Given the description of an element on the screen output the (x, y) to click on. 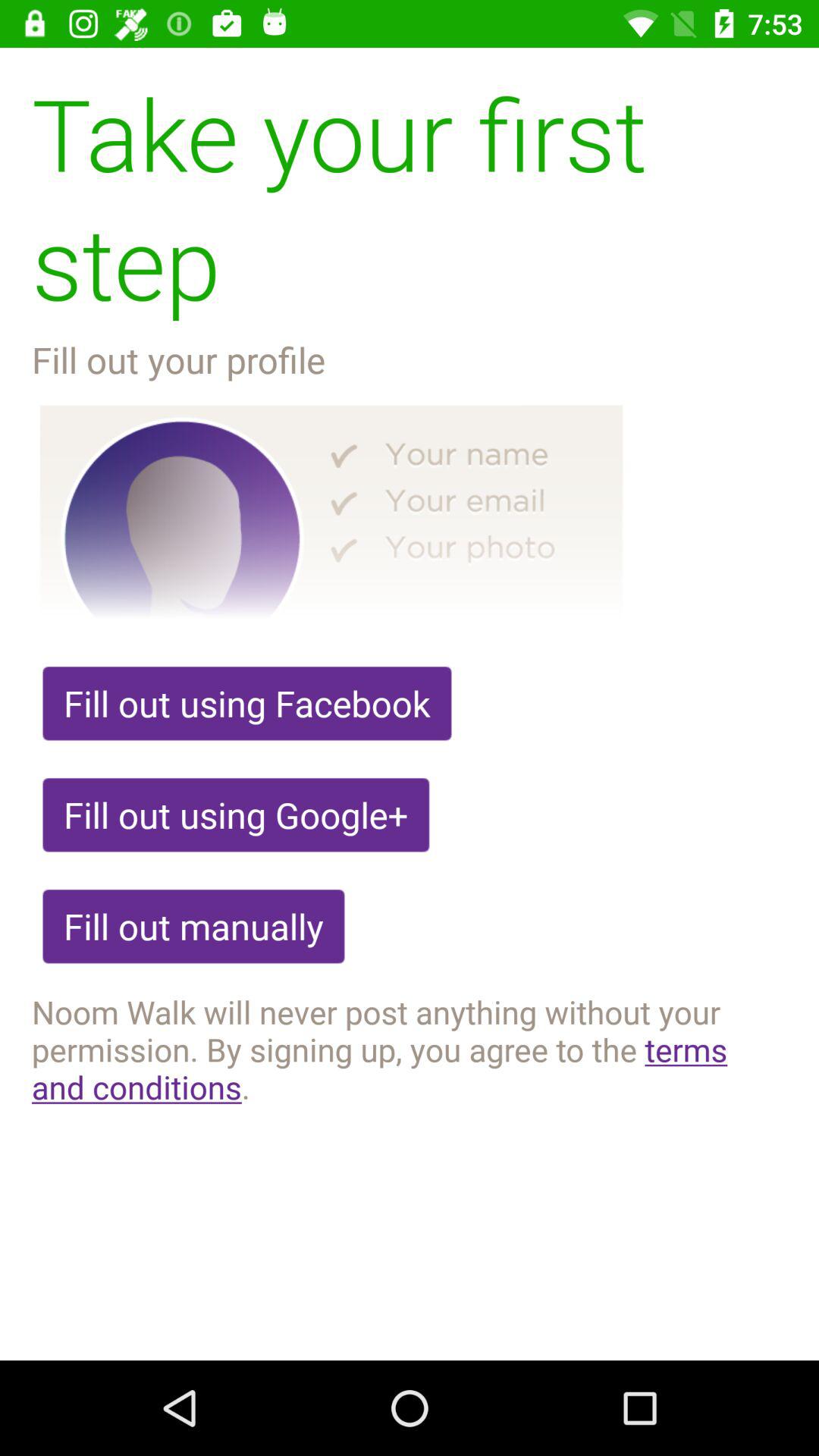
swipe until noom walk will (409, 1049)
